Given the description of an element on the screen output the (x, y) to click on. 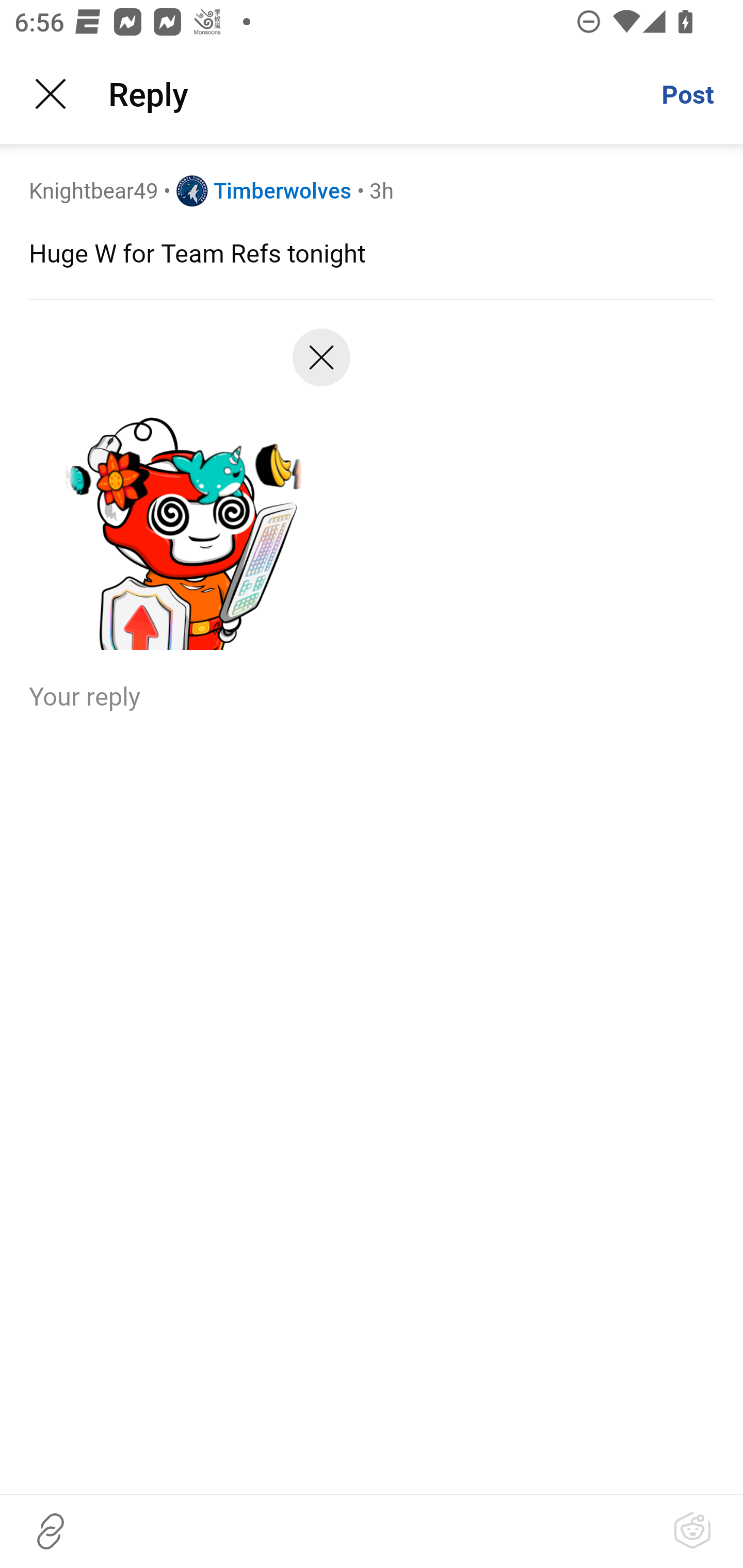
Close (50, 93)
Post (687, 94)
Close (320, 365)
dizziness expression (181, 496)
Your reply (371, 695)
Insert a link (50, 1530)
Show Expressions (692, 1530)
